Given the description of an element on the screen output the (x, y) to click on. 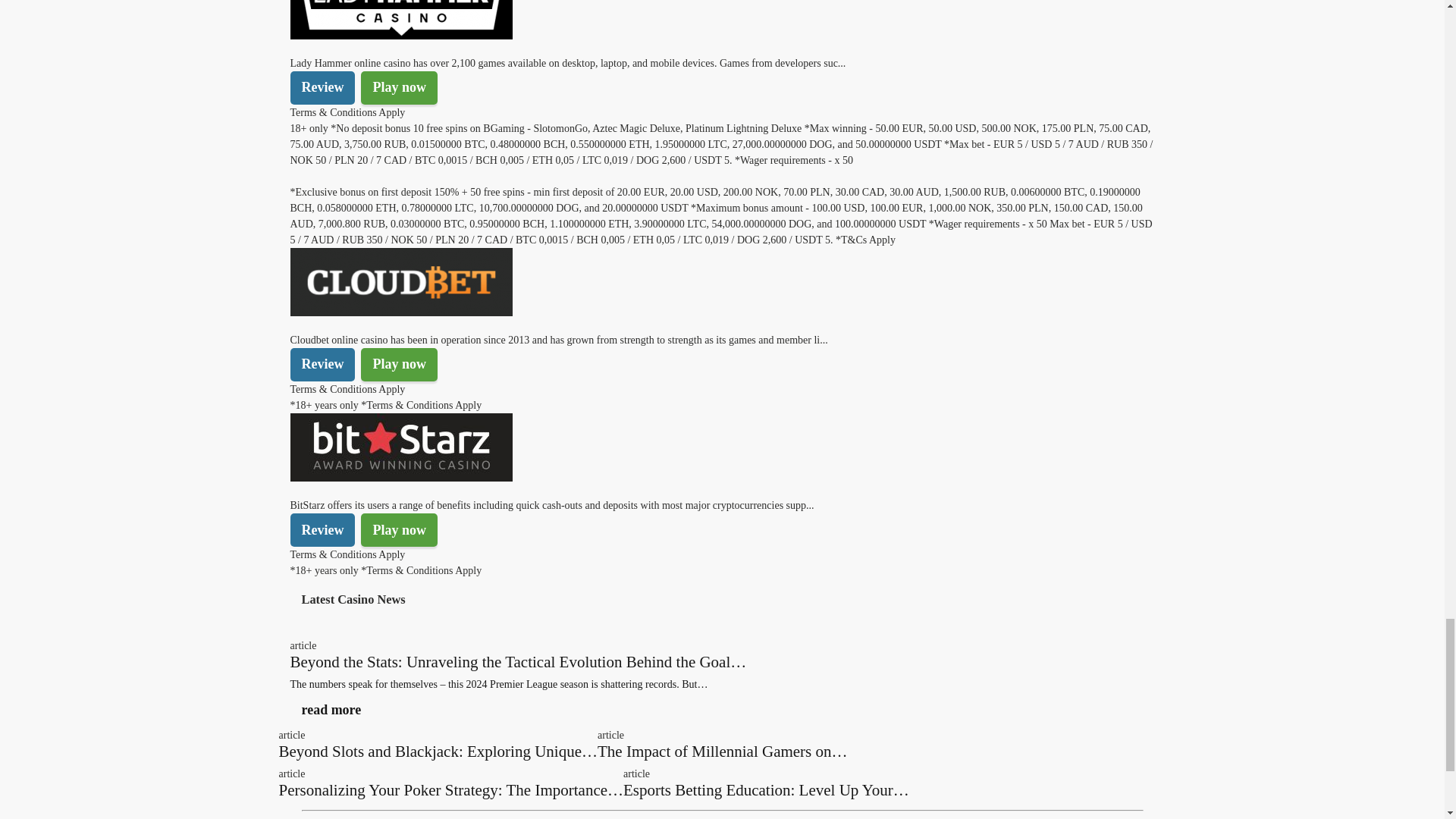
Review (322, 87)
Play now (398, 364)
Play now (398, 87)
Review (322, 364)
